Given the description of an element on the screen output the (x, y) to click on. 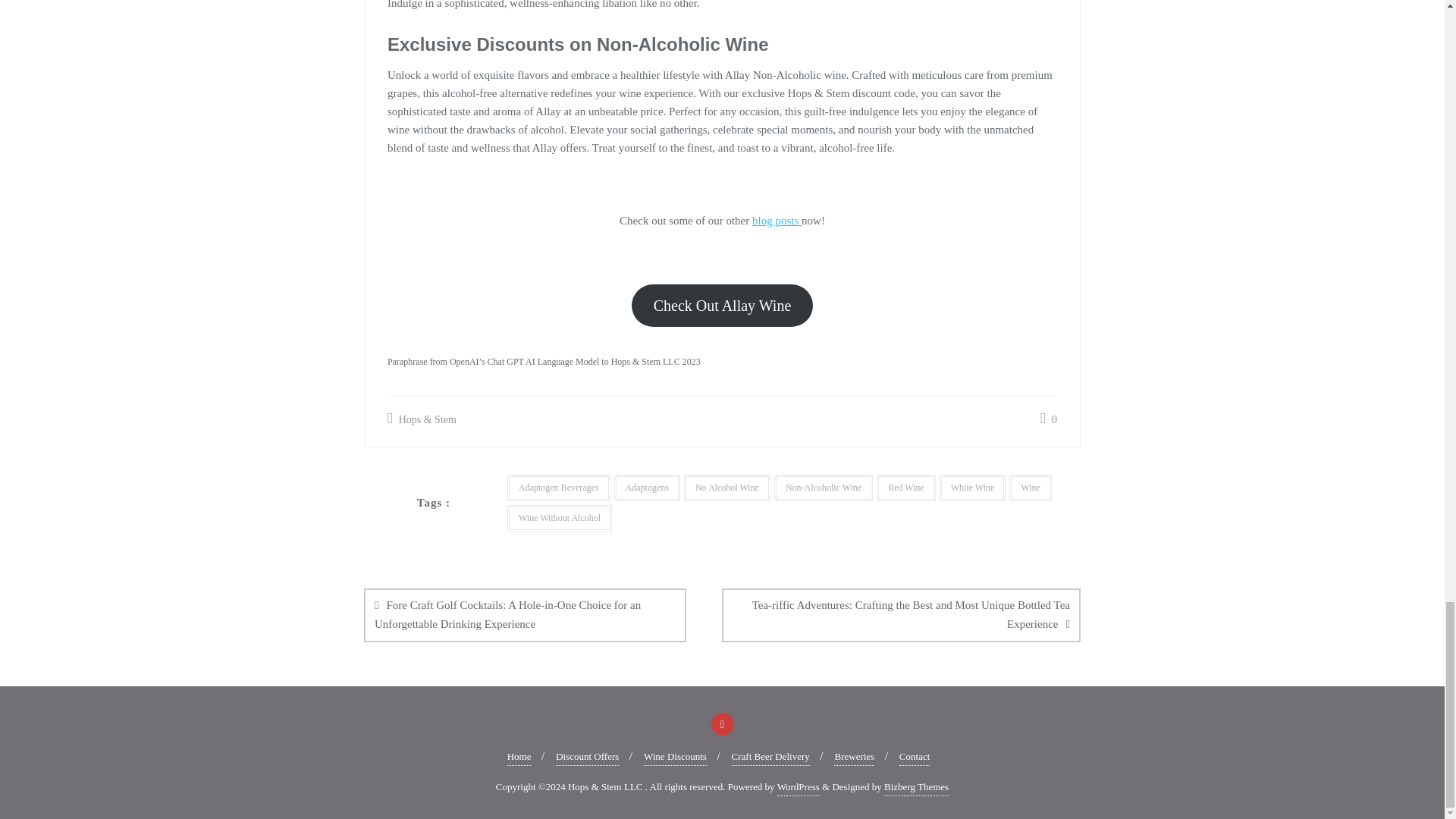
Adaptogen Beverages (558, 488)
Check Out Allay Wine (721, 305)
No Alcohol Wine (727, 488)
blog posts (777, 220)
Adaptogens (646, 488)
